Given the description of an element on the screen output the (x, y) to click on. 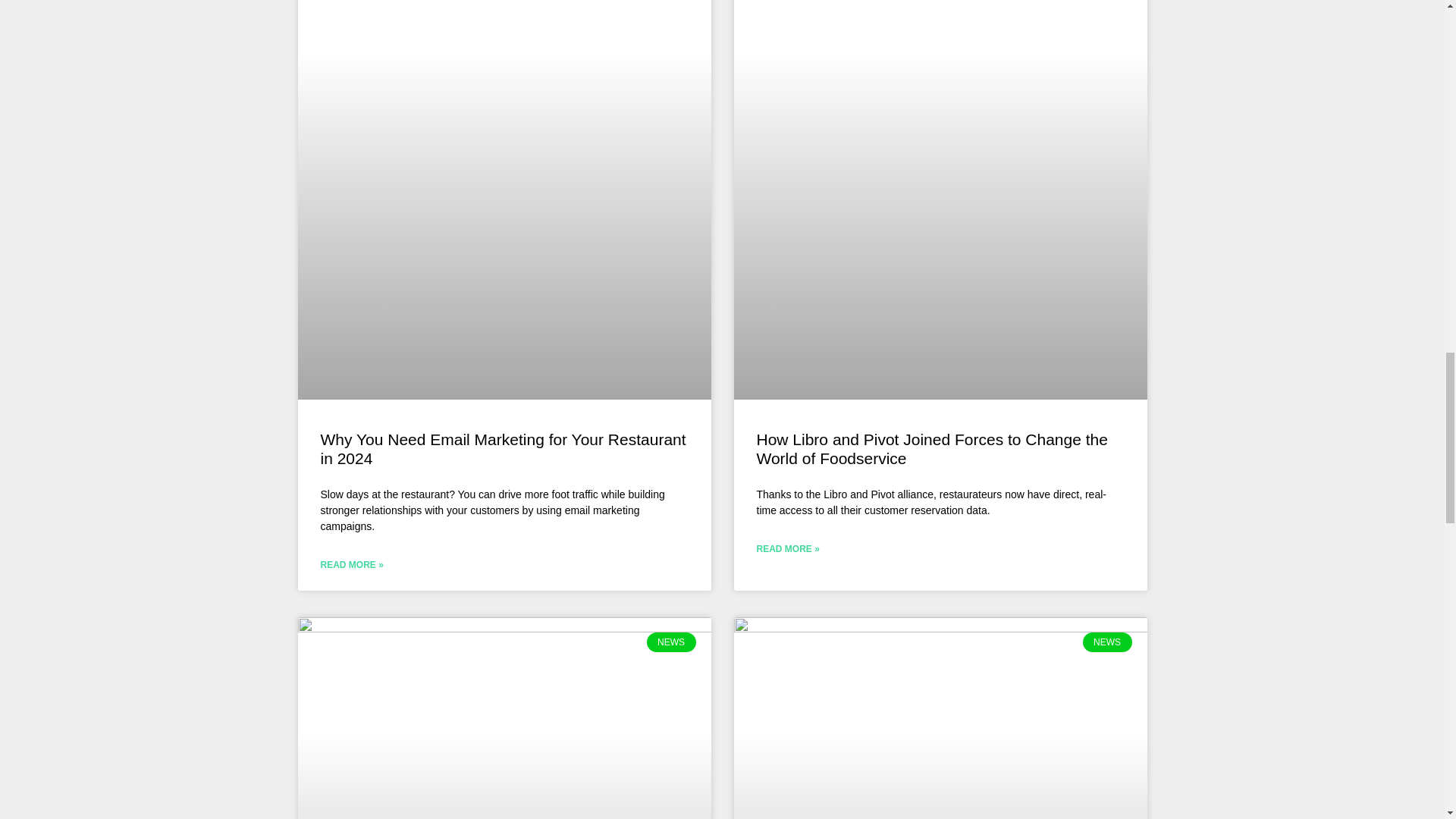
Why You Need Email Marketing for Your Restaurant in 2024 (502, 448)
